Given the description of an element on the screen output the (x, y) to click on. 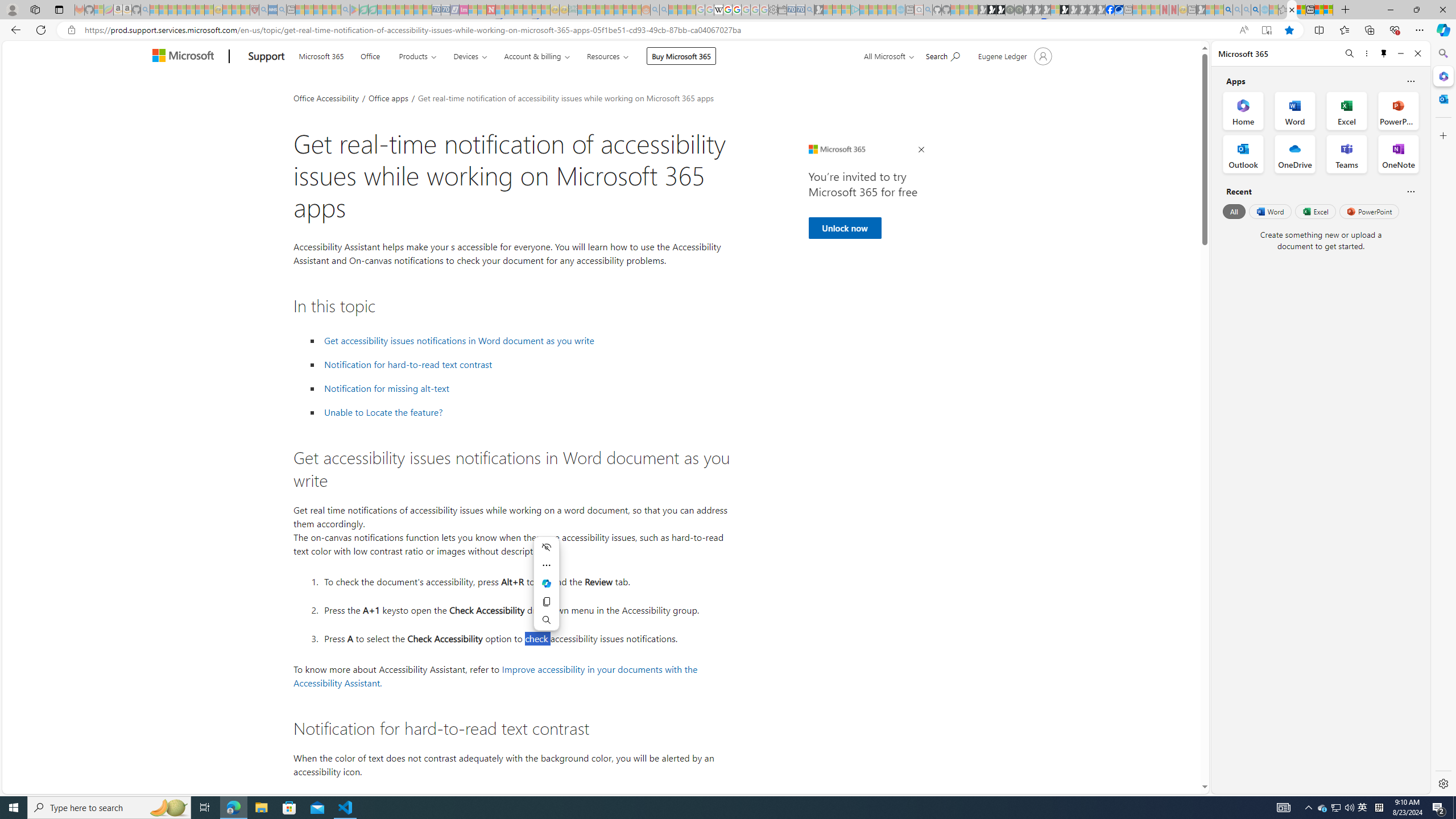
OneDrive Office App (1295, 154)
Office Accessibility (326, 97)
